Given the description of an element on the screen output the (x, y) to click on. 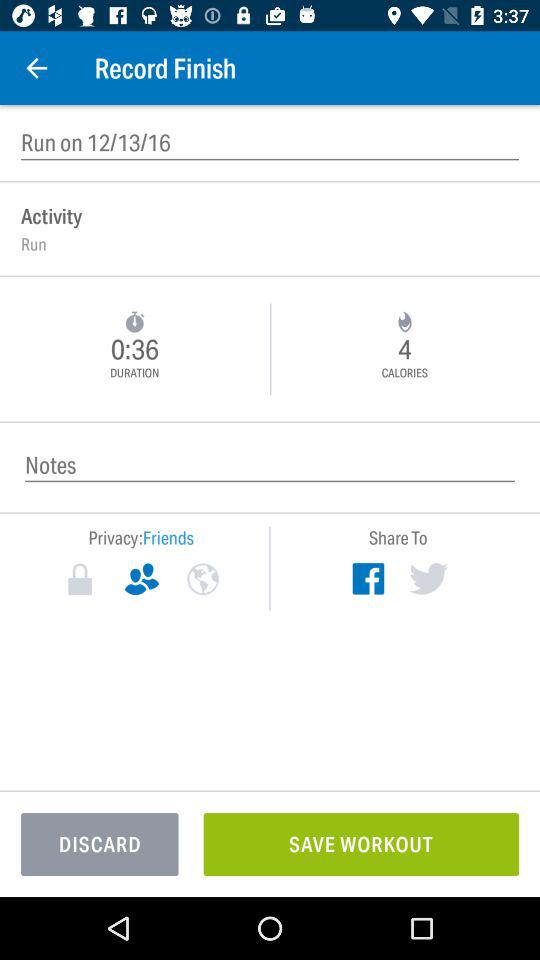
launch item next to discard (361, 844)
